Given the description of an element on the screen output the (x, y) to click on. 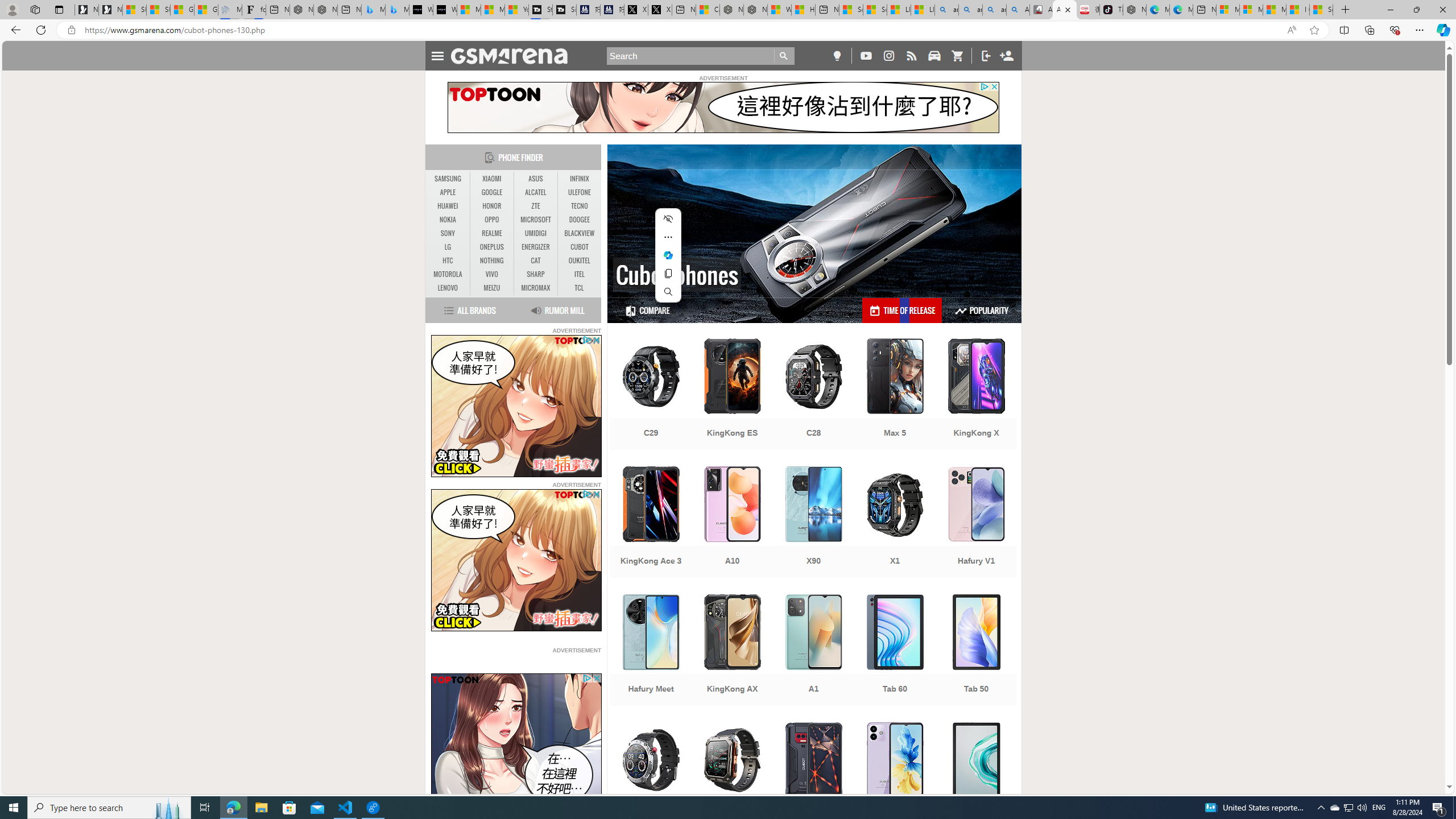
UMIDIGI (535, 233)
Address and search bar (680, 29)
C28 (813, 395)
APPLE (448, 192)
Hafury Meet (650, 651)
TCL (578, 287)
